Given the description of an element on the screen output the (x, y) to click on. 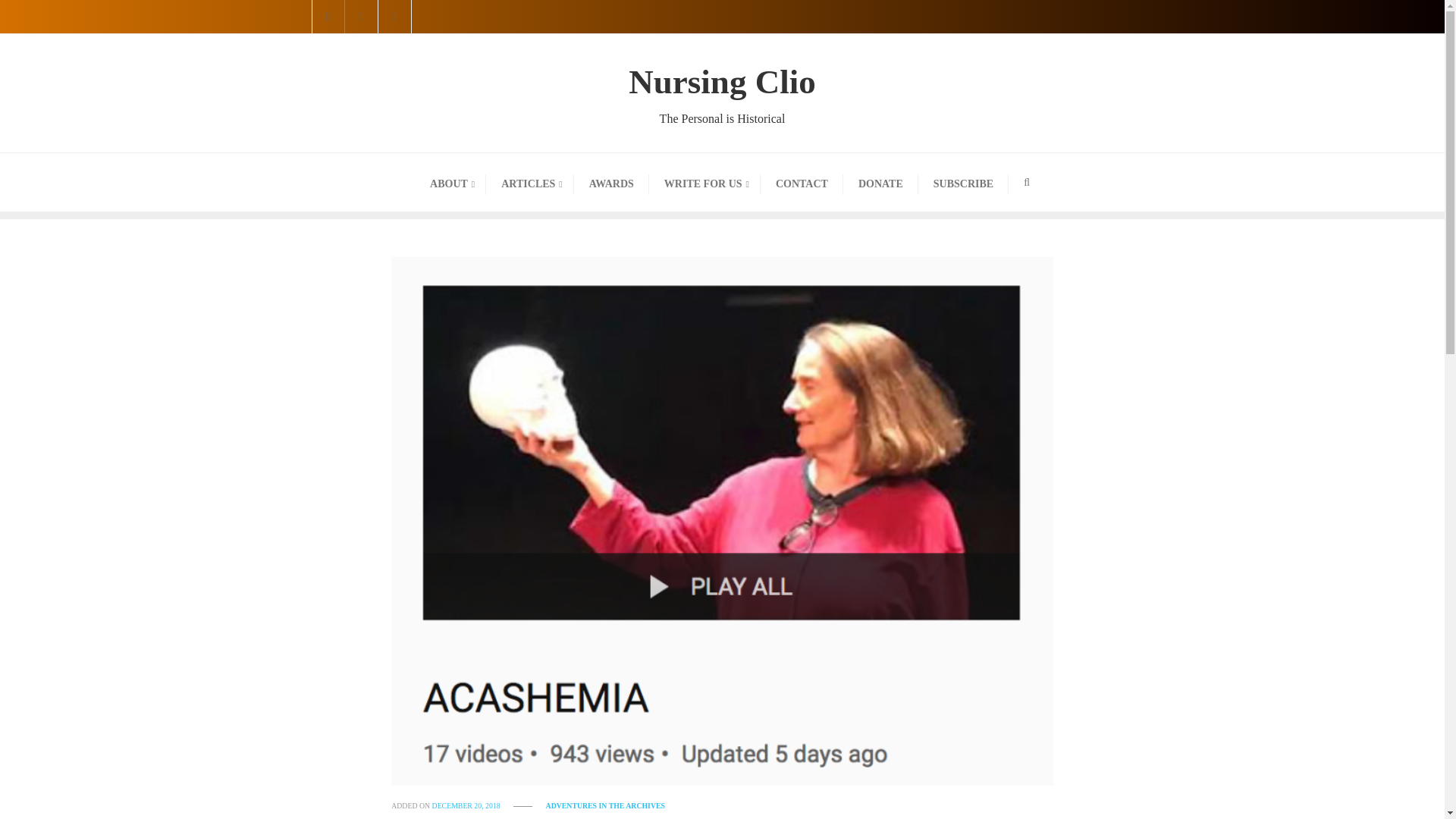
DECEMBER 20, 2018 (721, 93)
ARTICLES (467, 805)
SUBSCRIBE (529, 182)
AWARDS (963, 182)
ABOUT (611, 182)
DONATE (450, 182)
WRITE FOR US (880, 182)
CONTACT (704, 182)
